Given the description of an element on the screen output the (x, y) to click on. 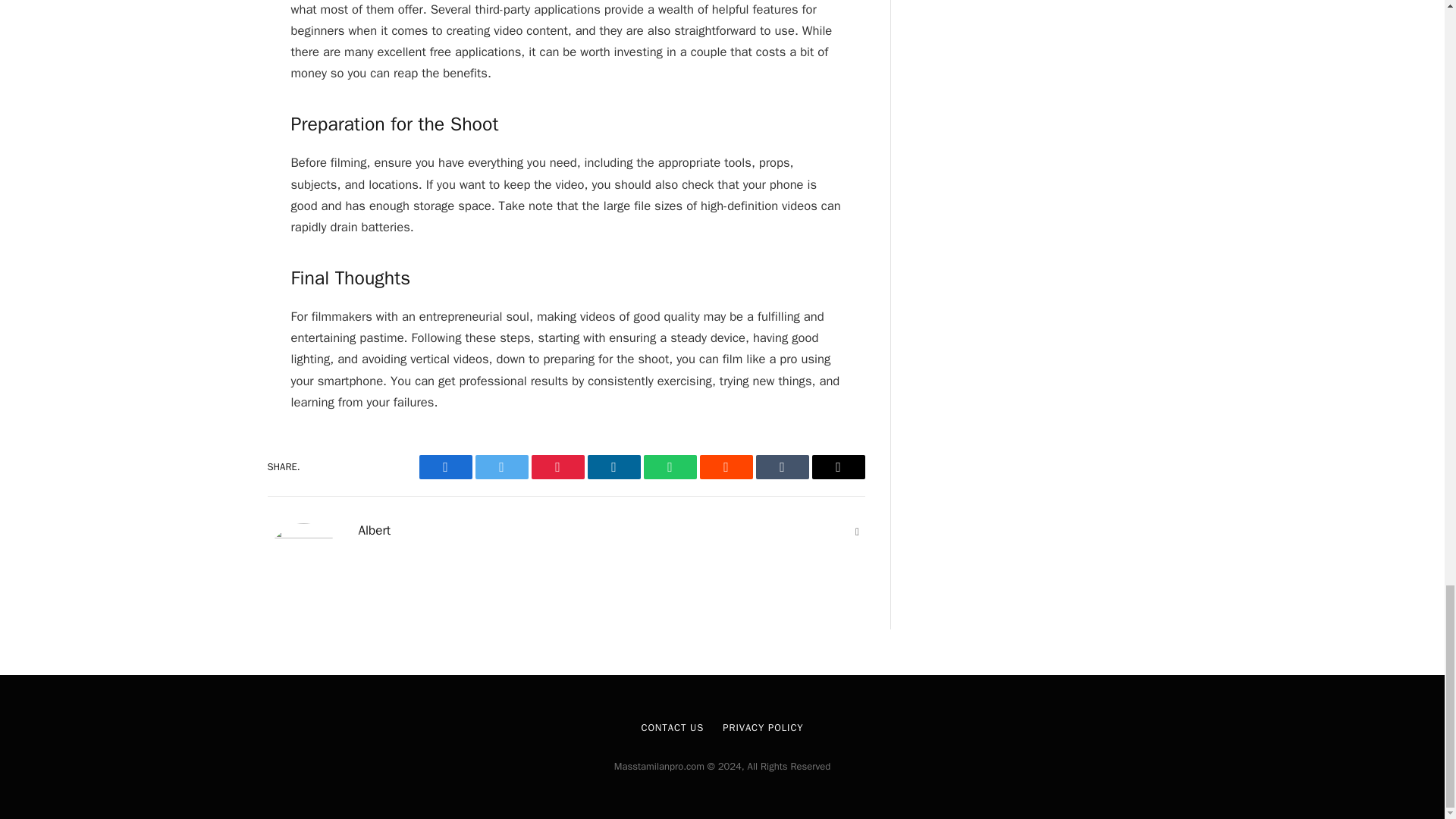
LinkedIn (613, 467)
Facebook (445, 467)
WhatsApp (669, 467)
Tumblr (781, 467)
Website (856, 531)
Share on Facebook (445, 467)
Email (837, 467)
Twitter (500, 467)
Pinterest (557, 467)
Albert (374, 530)
Reddit (725, 467)
